Given the description of an element on the screen output the (x, y) to click on. 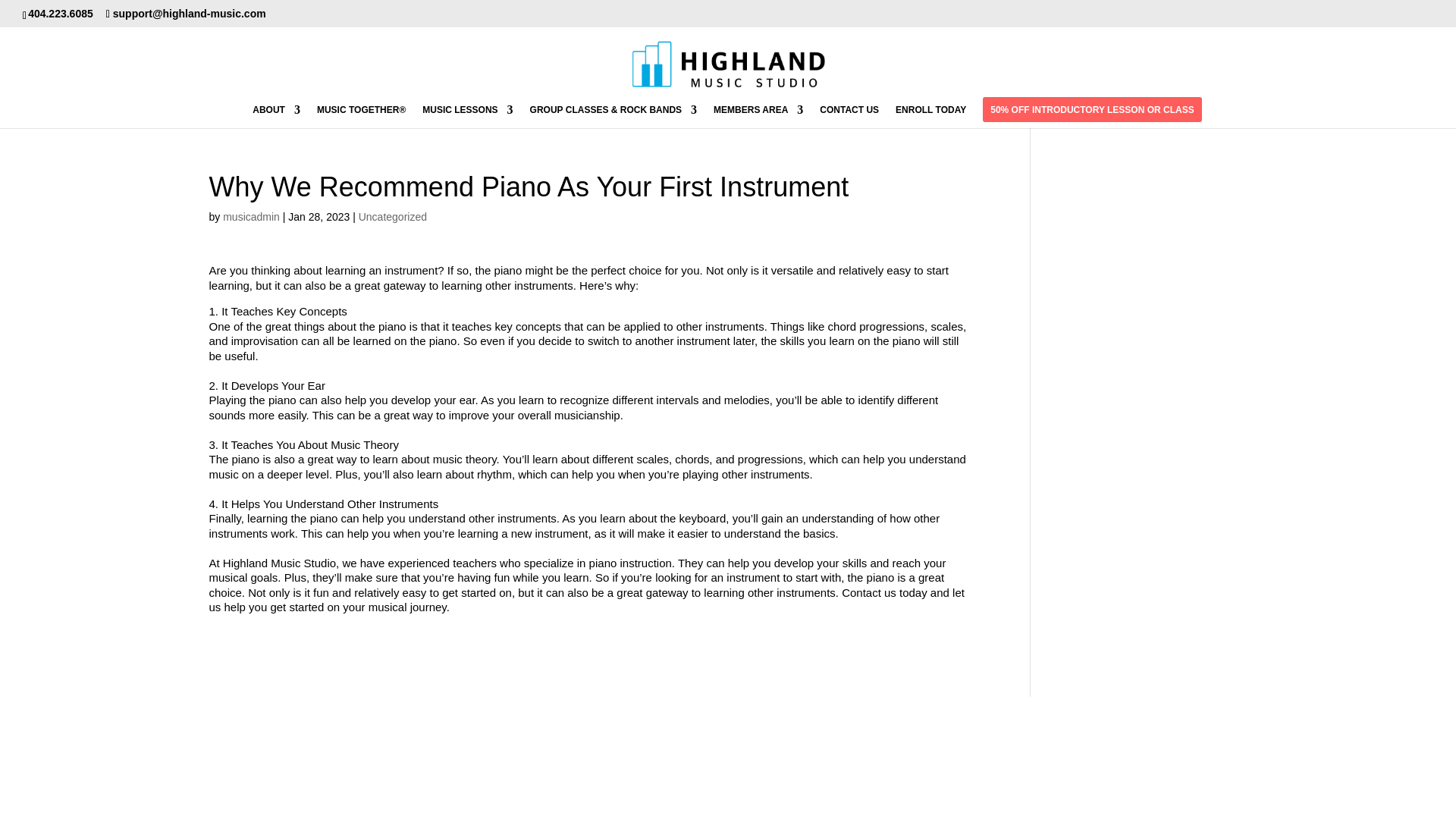
ABOUT (275, 115)
Posts by musicadmin (250, 216)
MEMBERS AREA (758, 115)
MUSIC LESSONS (467, 115)
ENROLL TODAY (930, 115)
CONTACT US (849, 115)
